Given the description of an element on the screen output the (x, y) to click on. 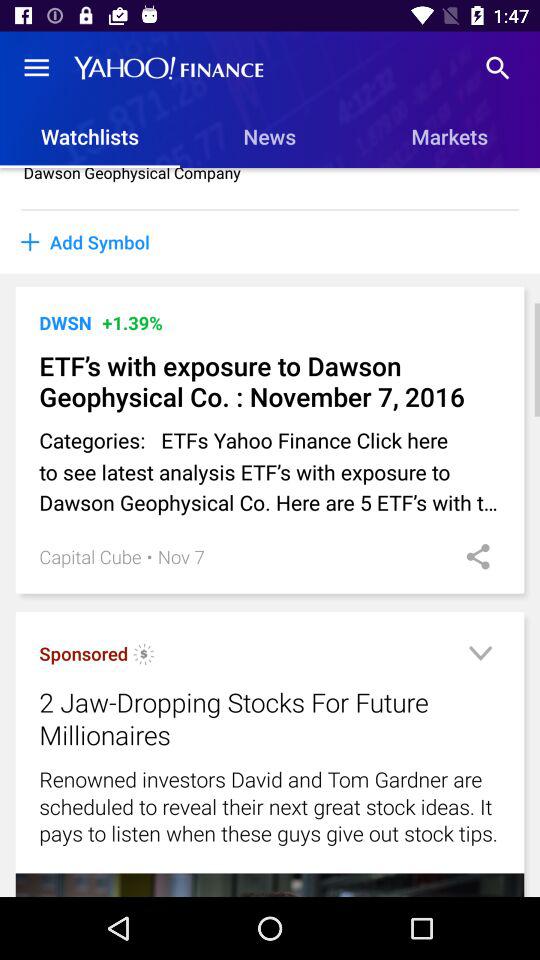
turn on the categories etfs yahoo (269, 471)
